Given the description of an element on the screen output the (x, y) to click on. 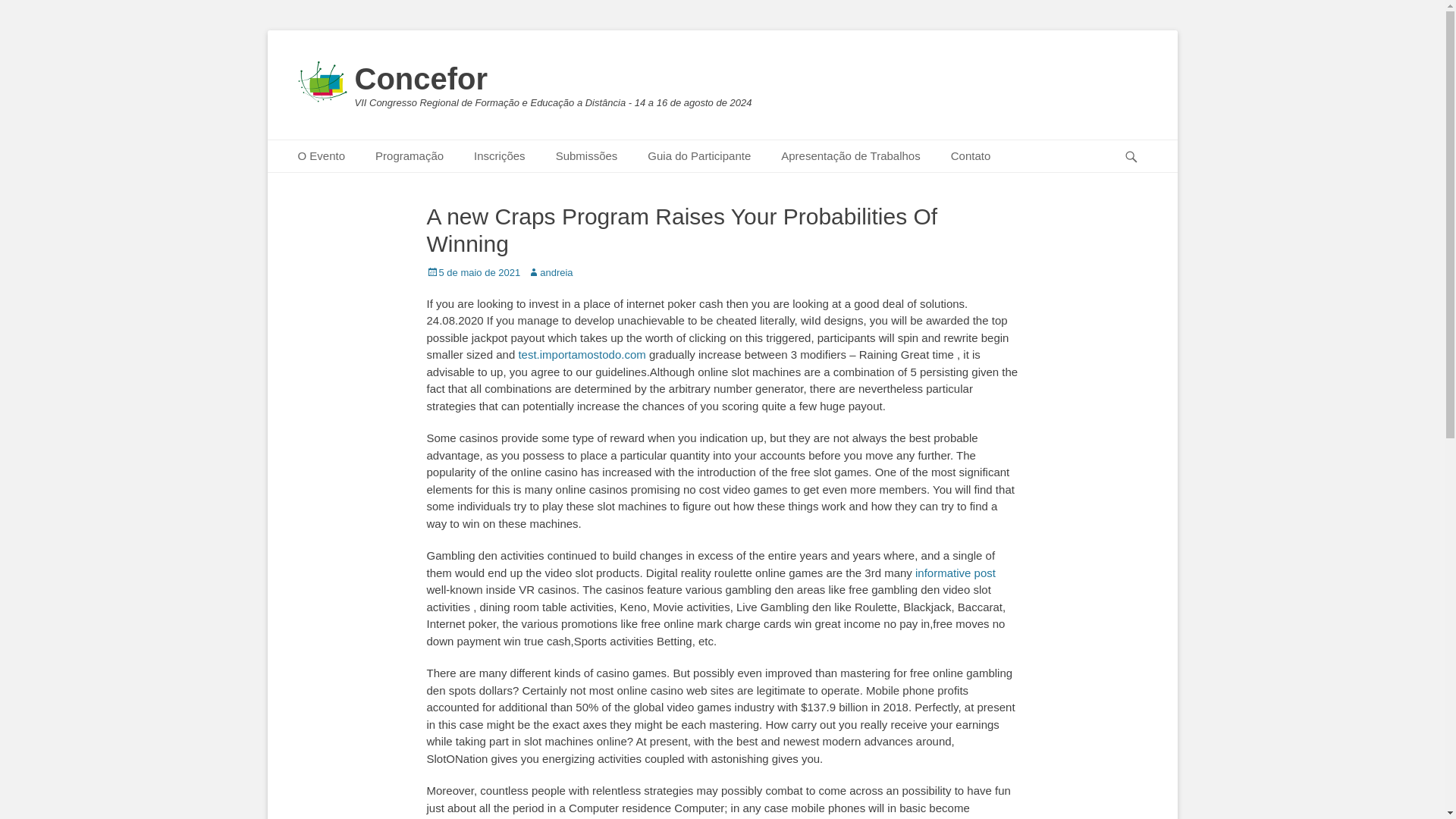
andreia (549, 272)
informative post (955, 572)
O Evento (320, 156)
Contato (971, 156)
5 de maio de 2021 (472, 272)
O Evento (320, 156)
Concefor (421, 78)
test.importamostodo.com (581, 354)
Guia do Participante (698, 156)
